Given the description of an element on the screen output the (x, y) to click on. 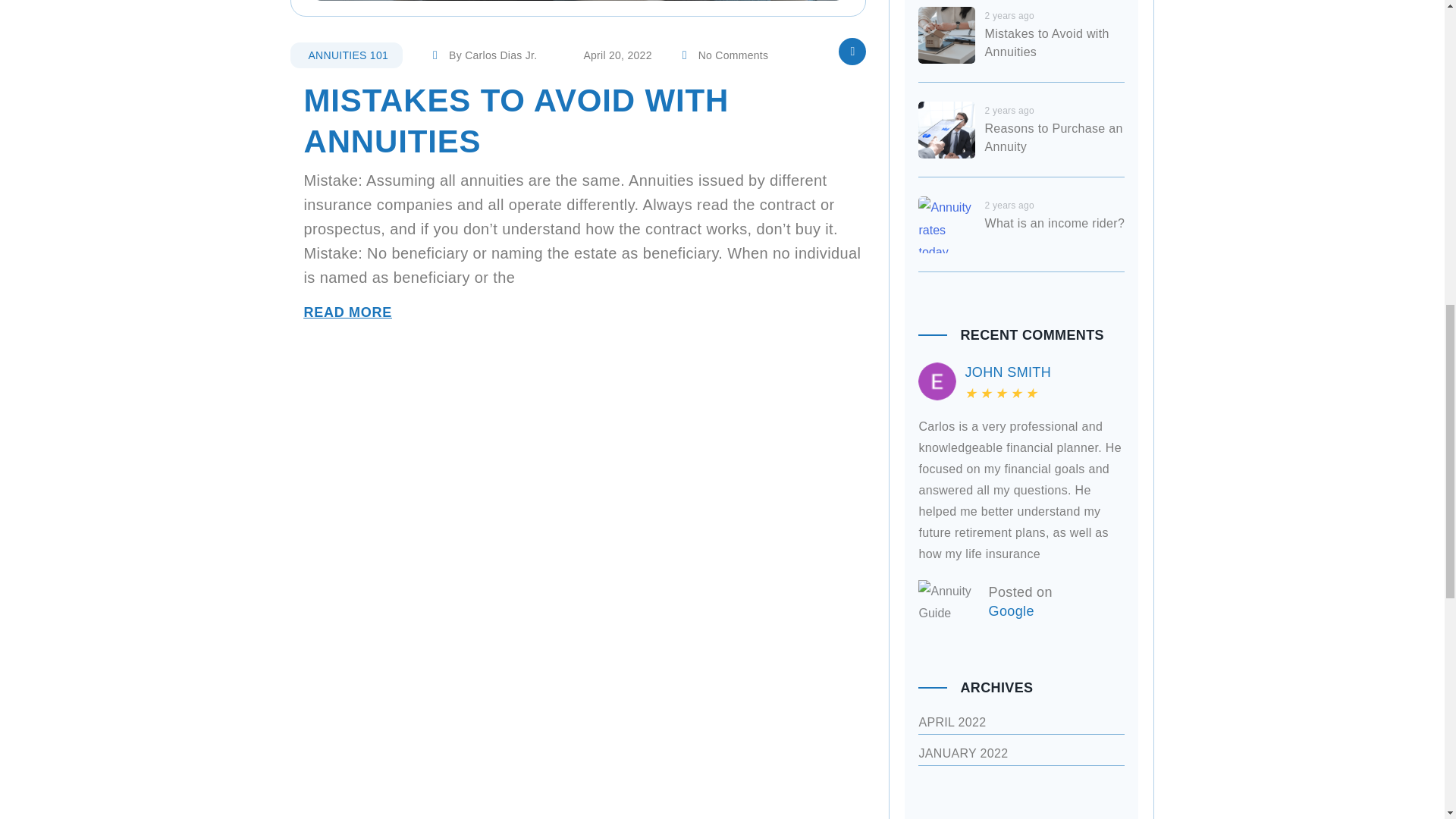
Mistakes to Avoid with Annuities (1046, 42)
Reasons to Purchase an Annuity (1053, 137)
What is an income rider? (1054, 223)
READ MORE (346, 312)
JANUARY 2022 (962, 753)
APRIL 2022 (951, 721)
